Given the description of an element on the screen output the (x, y) to click on. 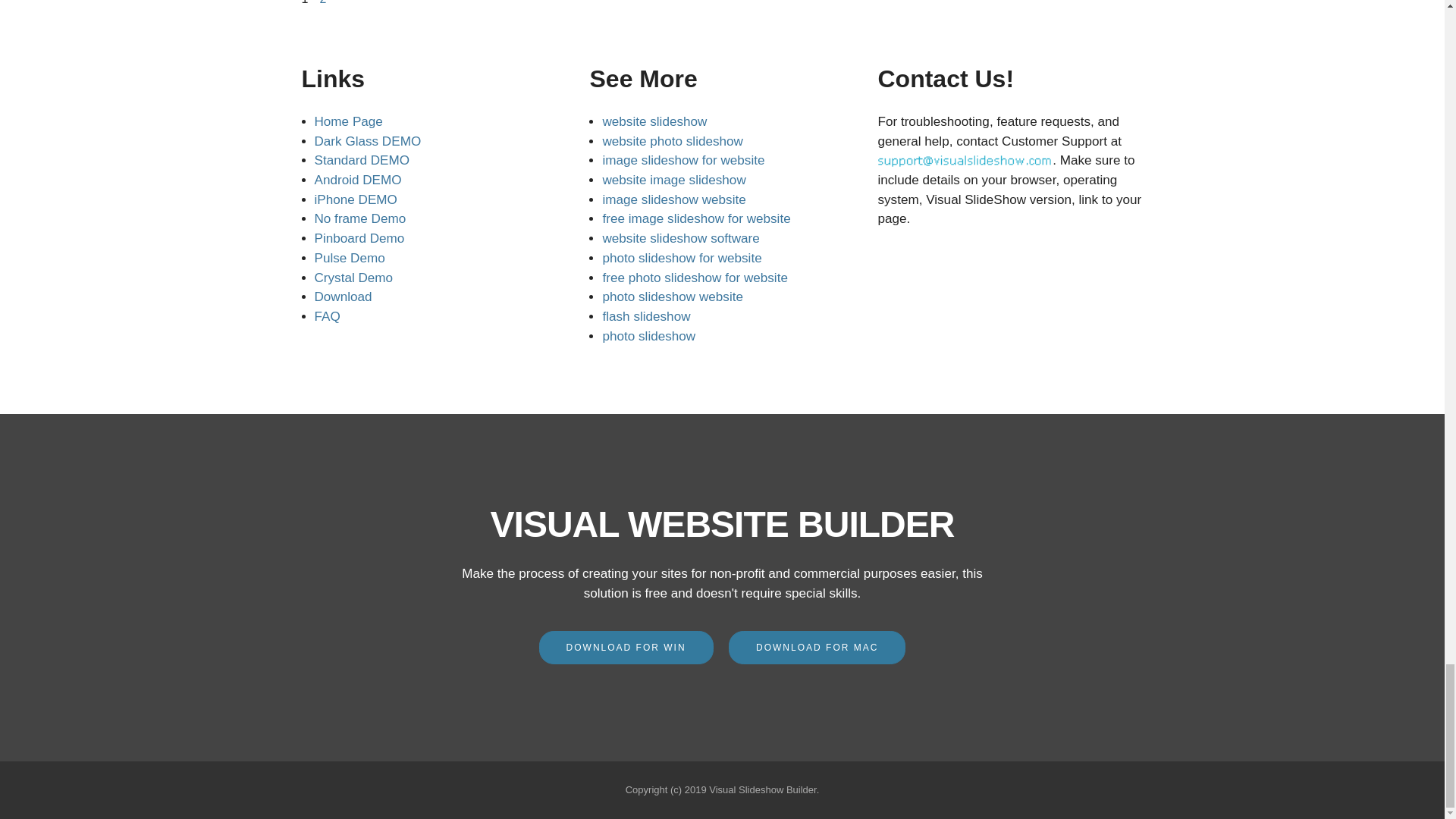
1 (304, 2)
Standard DEMO (361, 160)
Home Page (347, 121)
No frame Demo (360, 218)
Pinboard Demo (359, 237)
Dark Glass DEMO (367, 141)
2 (322, 2)
iPhone DEMO (355, 199)
Android DEMO (357, 179)
